Given the description of an element on the screen output the (x, y) to click on. 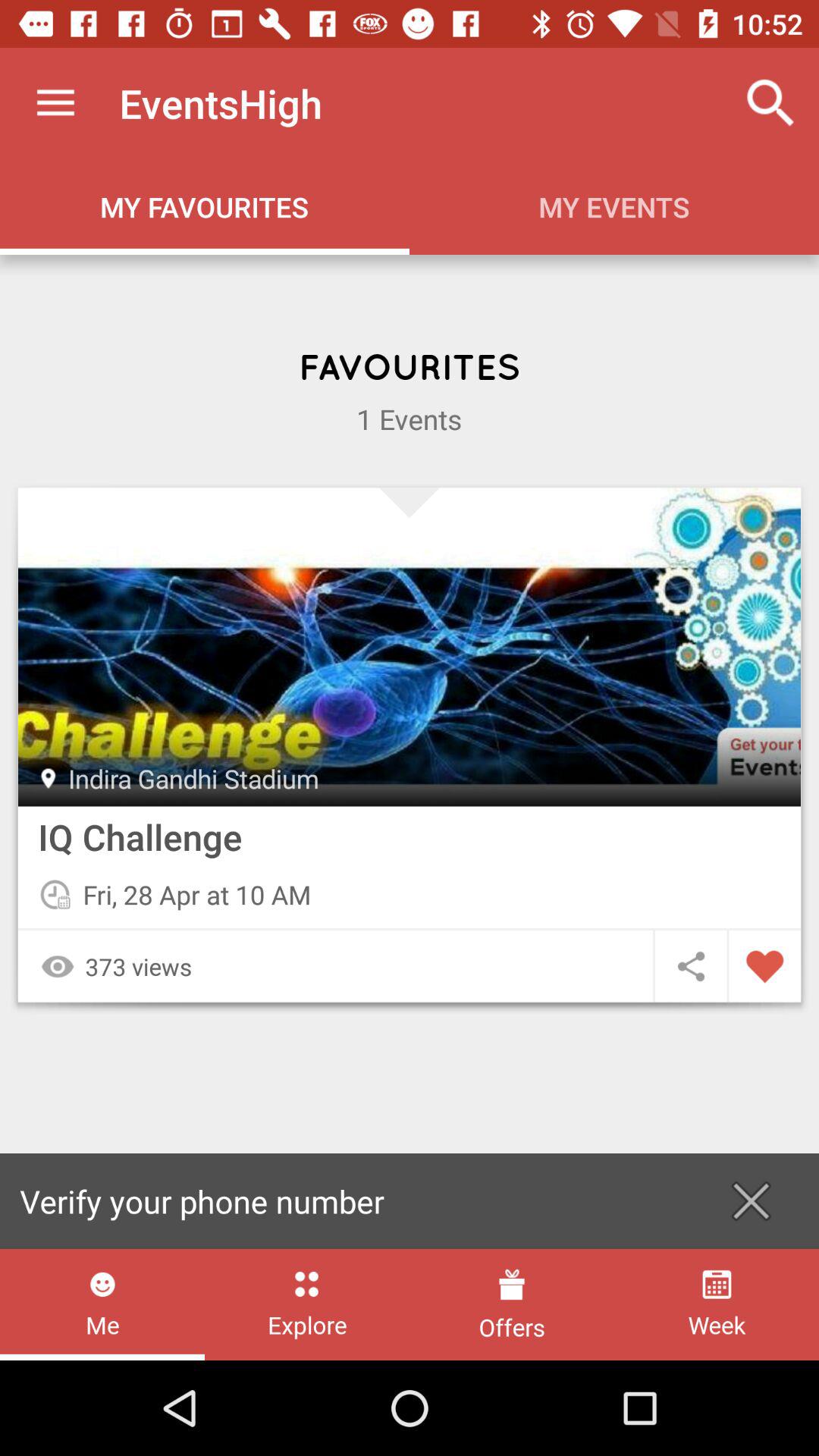
choose the item to the right of the me icon (306, 1304)
